Given the description of an element on the screen output the (x, y) to click on. 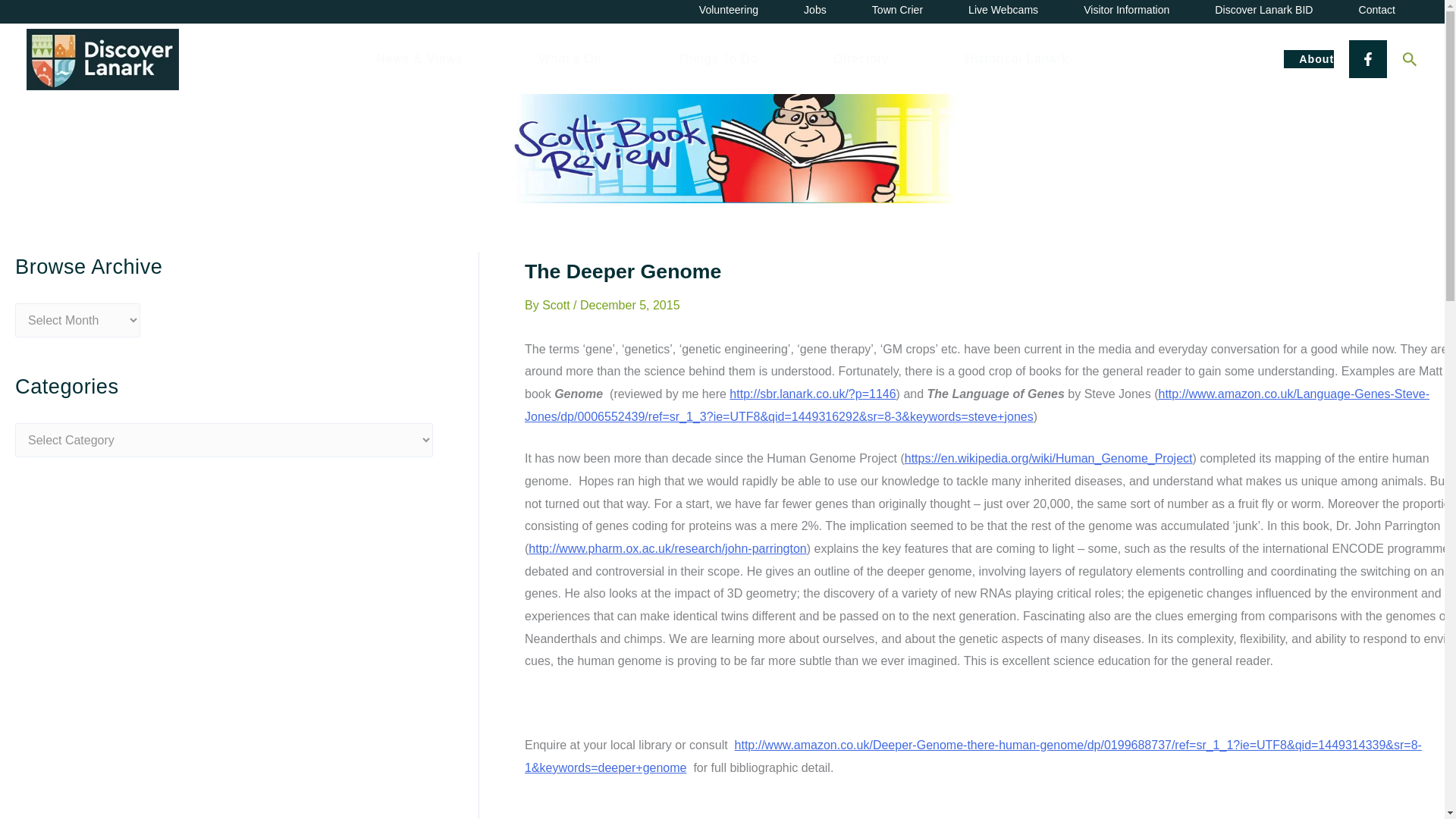
Contact (1376, 11)
Discover Lanark BID (1263, 11)
Visitor Information (1126, 11)
About (1308, 58)
Live Webcams (1002, 11)
Scott (557, 305)
Volunteering (728, 11)
View all posts by Scott (557, 305)
Jobs (814, 11)
Town Crier (896, 11)
